Given the description of an element on the screen output the (x, y) to click on. 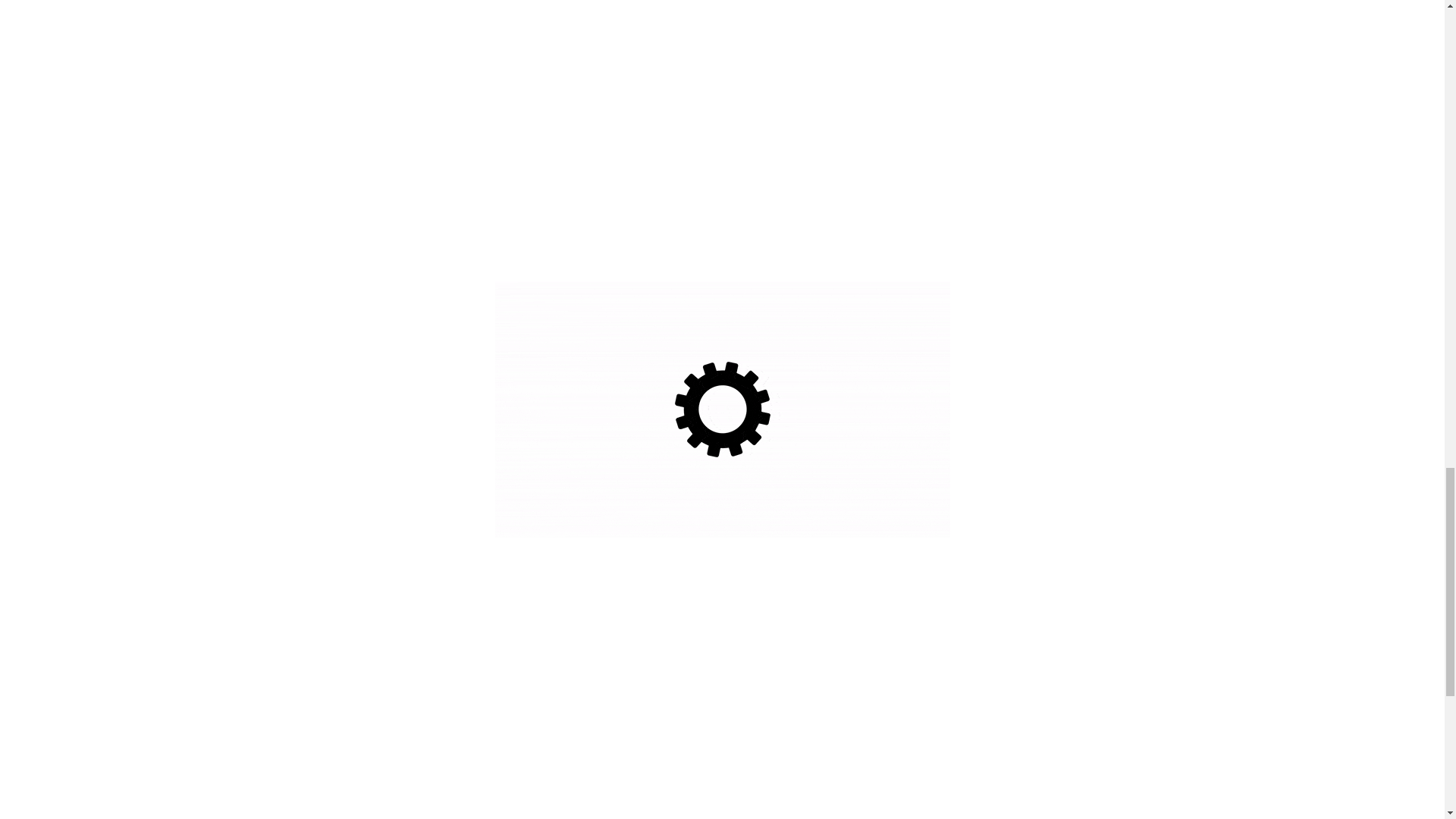
logged in (457, 706)
Previous Project (420, 812)
Next Project (1032, 812)
Back to all projects (721, 812)
